Given the description of an element on the screen output the (x, y) to click on. 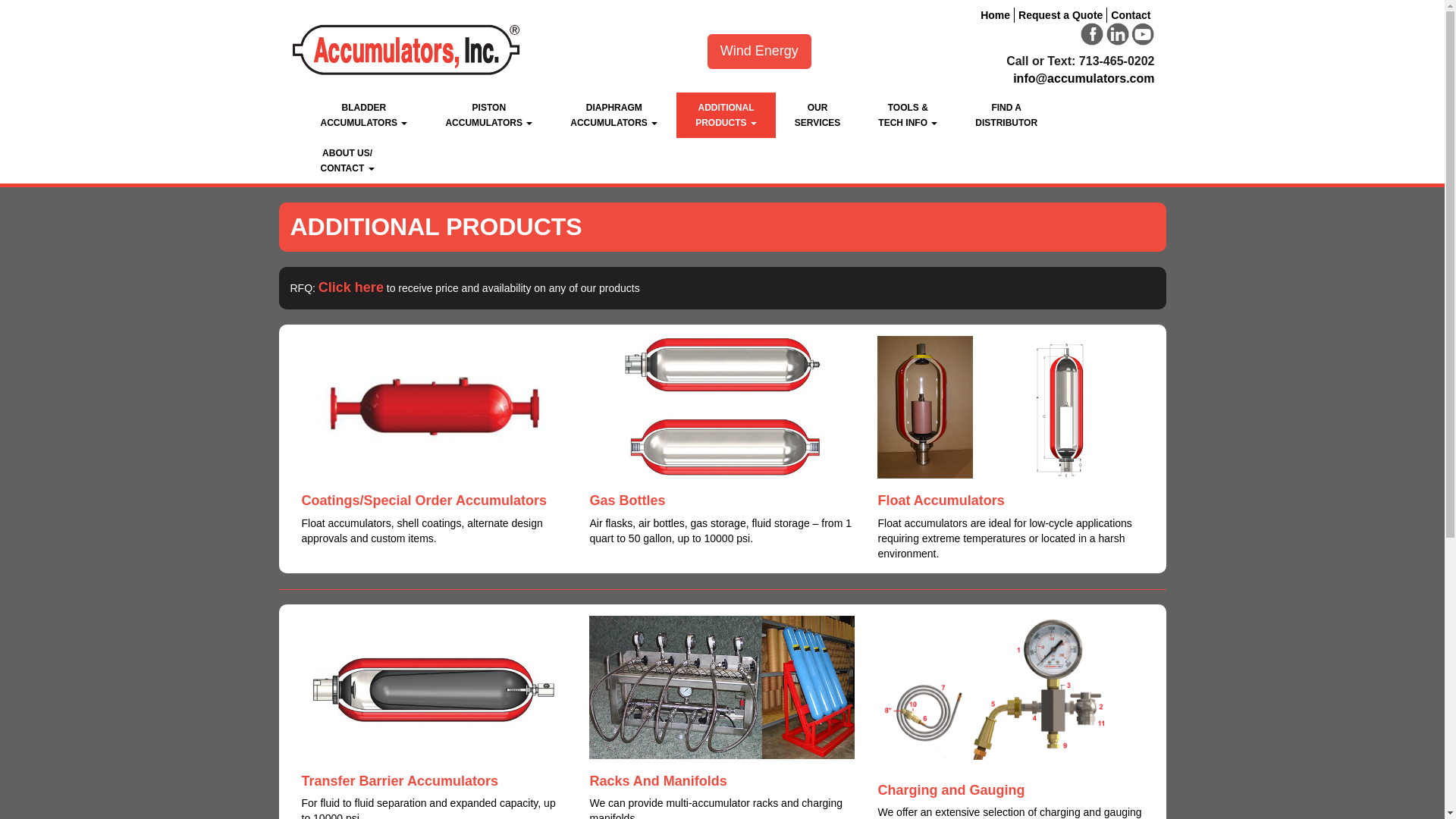
products-special-order (614, 115)
Wind Energy (1009, 407)
Special-Order-RS (758, 51)
Transfer-Barrier-RS (434, 407)
ovw-cng (726, 115)
Request a Quote (434, 687)
Contact (1009, 691)
products-rack-manifold (1060, 14)
Gas-Bottle (1130, 14)
Accumulators, Inc. (721, 687)
Home (488, 115)
